Given the description of an element on the screen output the (x, y) to click on. 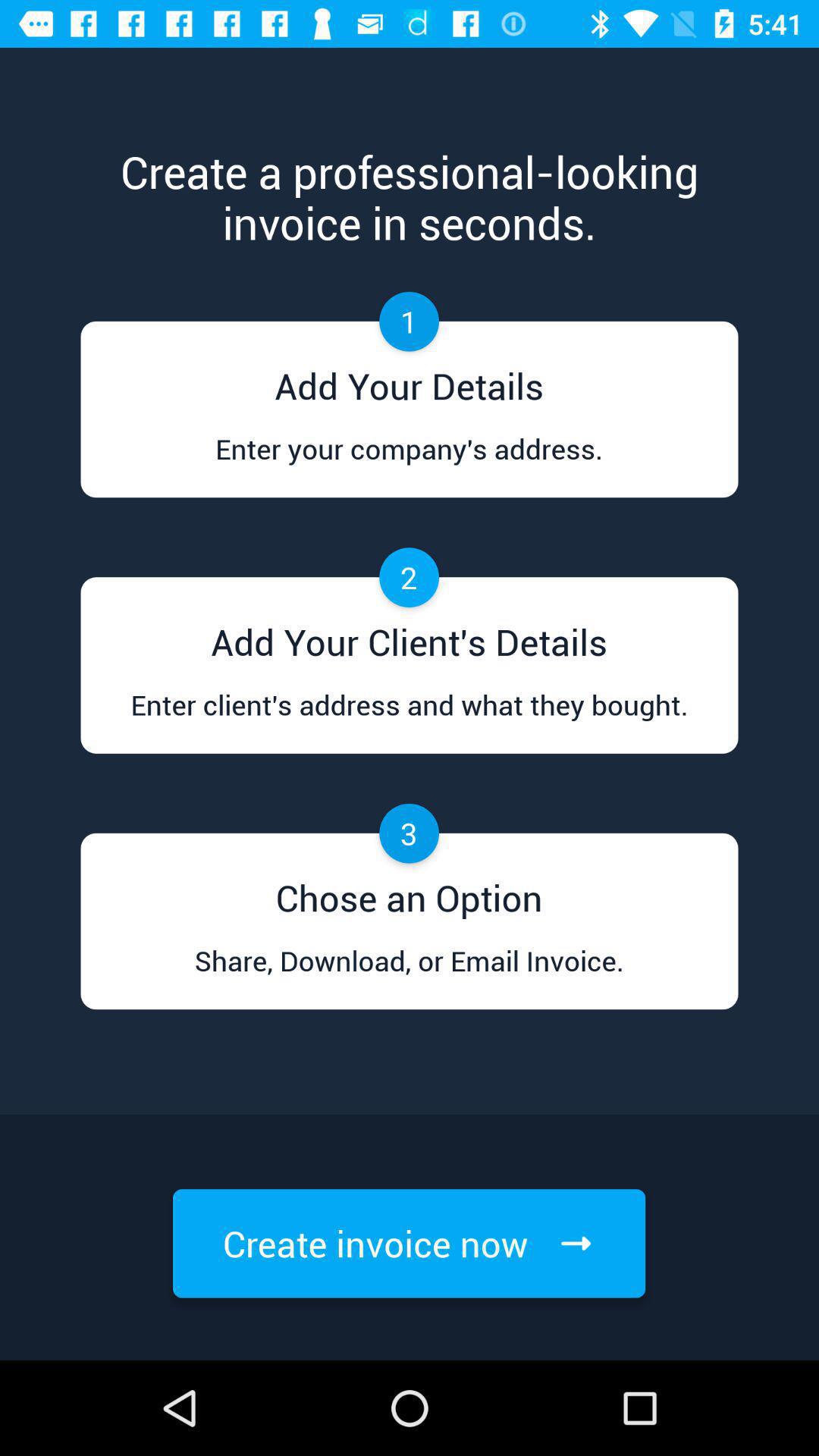
tap item below chose an option (408, 975)
